Given the description of an element on the screen output the (x, y) to click on. 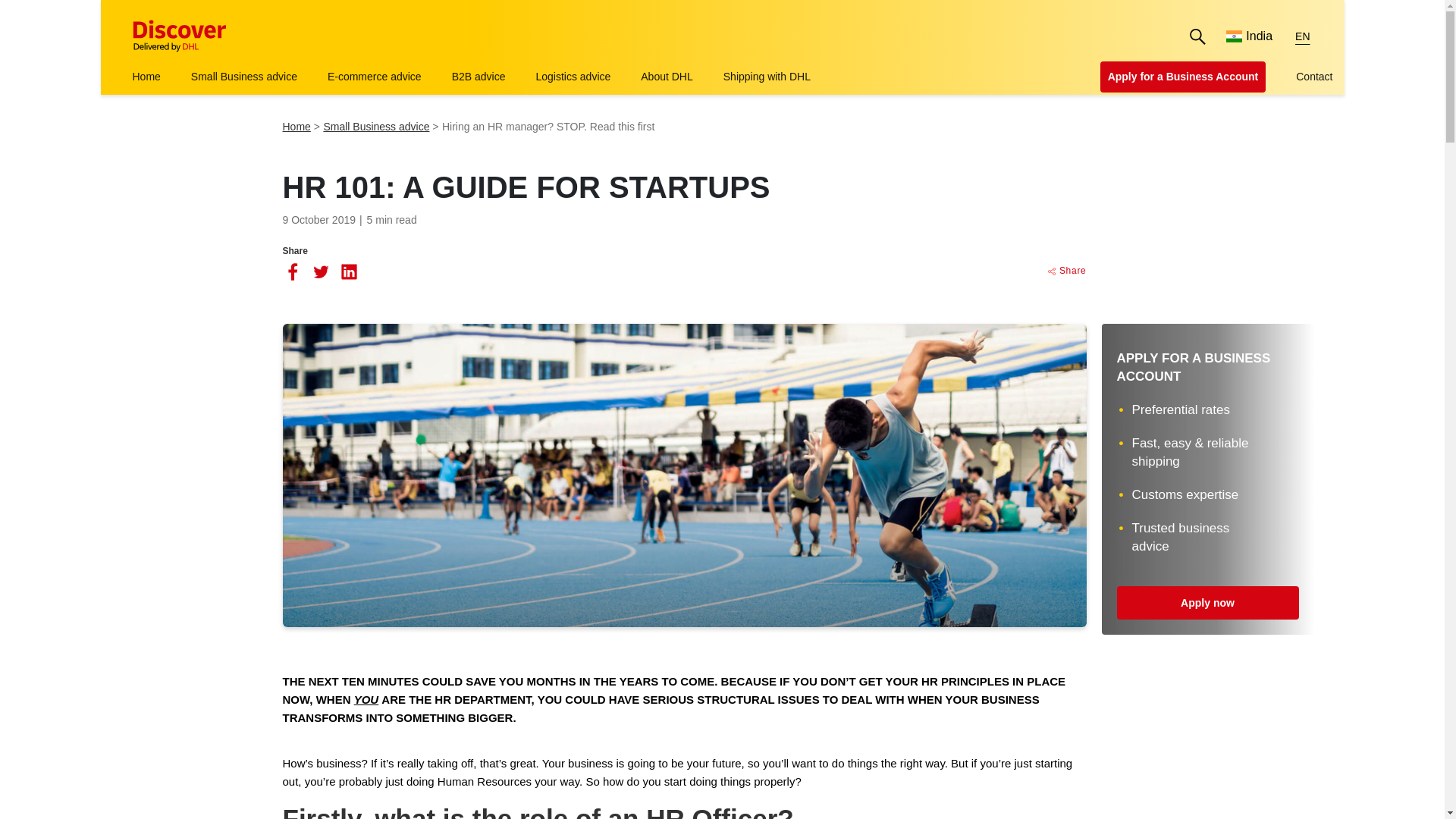
EN (1301, 36)
India (1248, 36)
Apply now (1207, 602)
Apply for a Business Account (1183, 76)
